Given the description of an element on the screen output the (x, y) to click on. 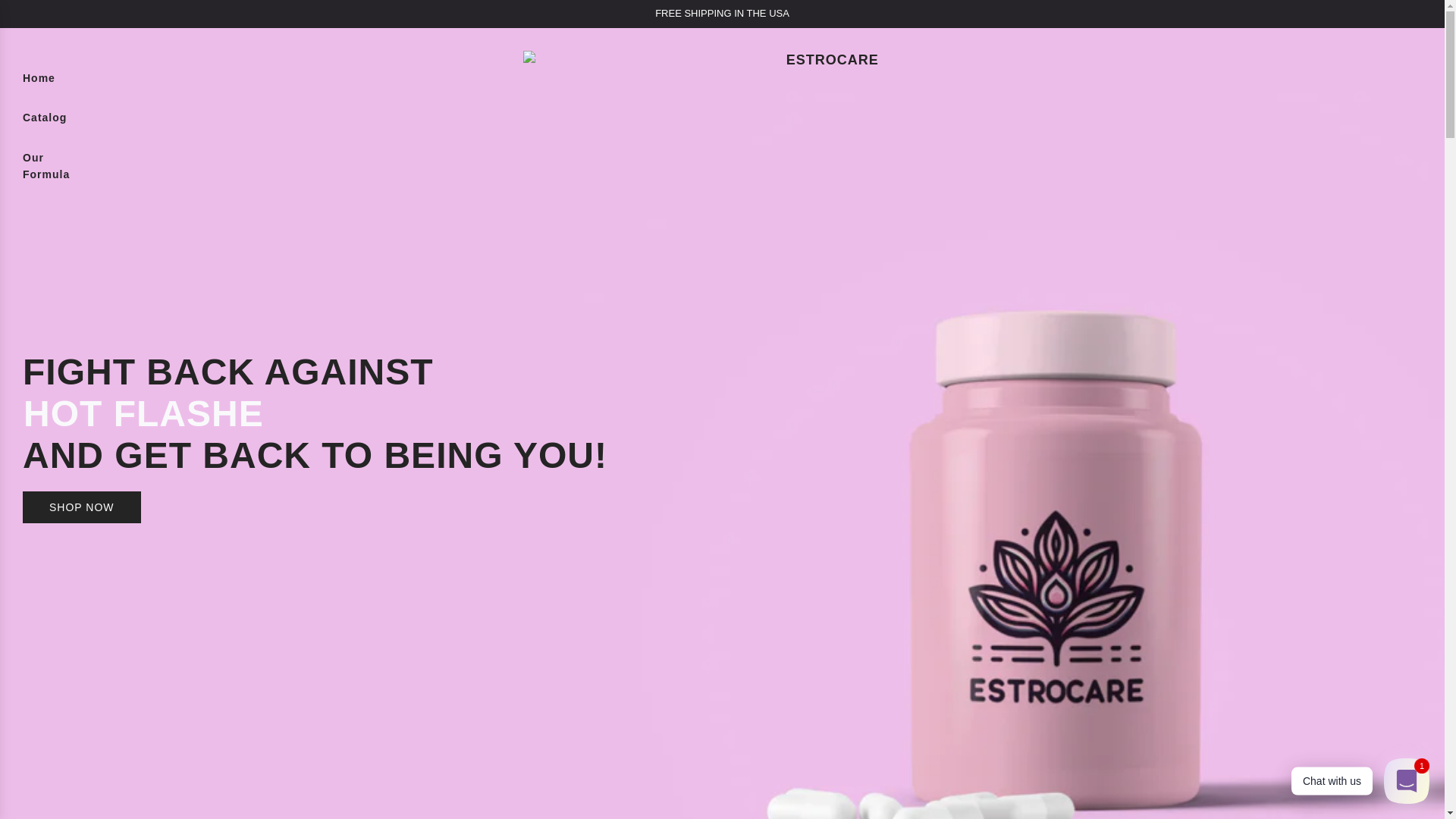
SHOP NOW (82, 507)
Our Formula (46, 166)
Home (38, 77)
Catalog (44, 117)
